Given the description of an element on the screen output the (x, y) to click on. 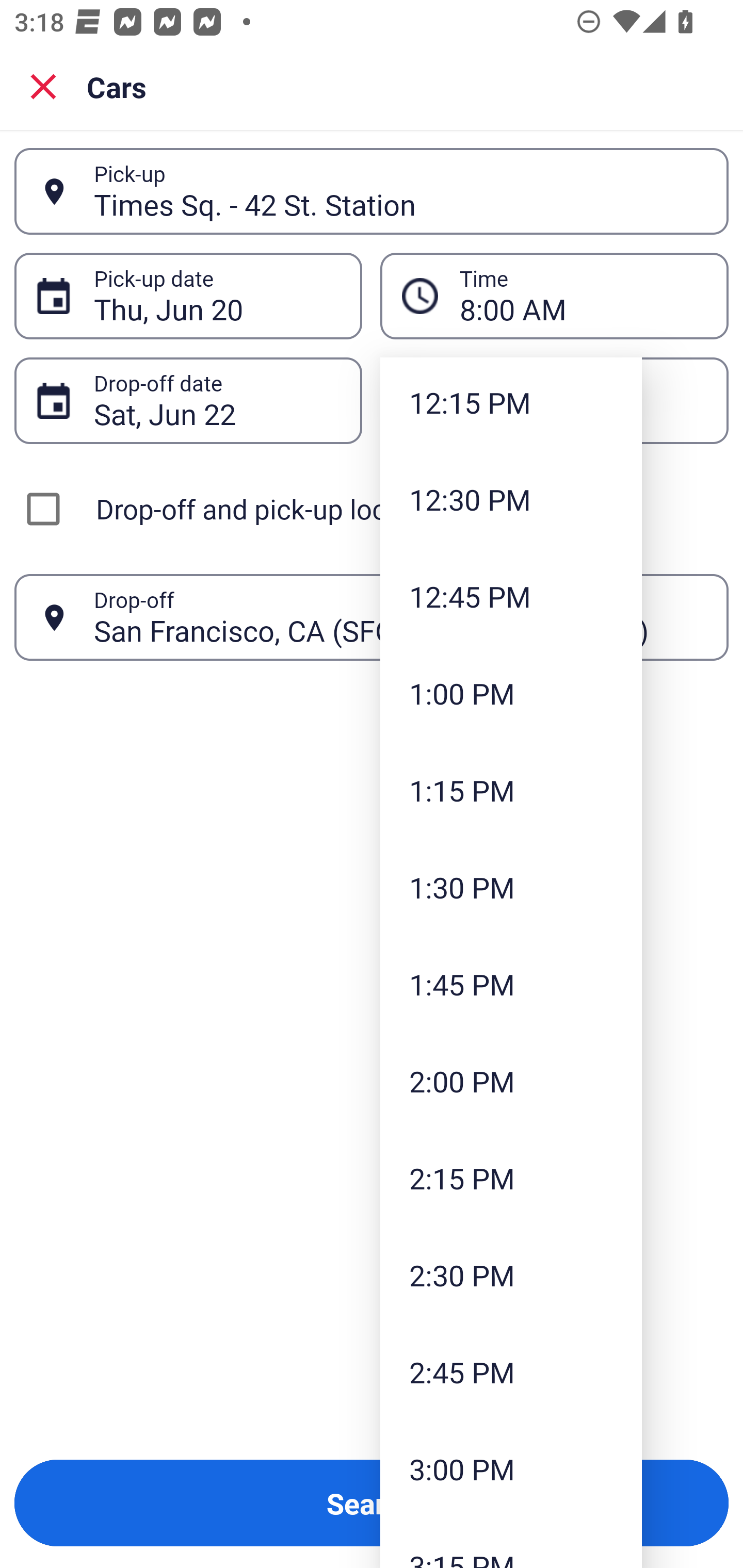
12:15 PM (510, 404)
12:30 PM (510, 499)
12:45 PM (510, 595)
1:00 PM (510, 692)
1:15 PM (510, 789)
1:30 PM (510, 887)
1:45 PM (510, 984)
2:00 PM (510, 1080)
2:15 PM (510, 1177)
2:30 PM (510, 1274)
2:45 PM (510, 1371)
3:00 PM (510, 1468)
